Given the description of an element on the screen output the (x, y) to click on. 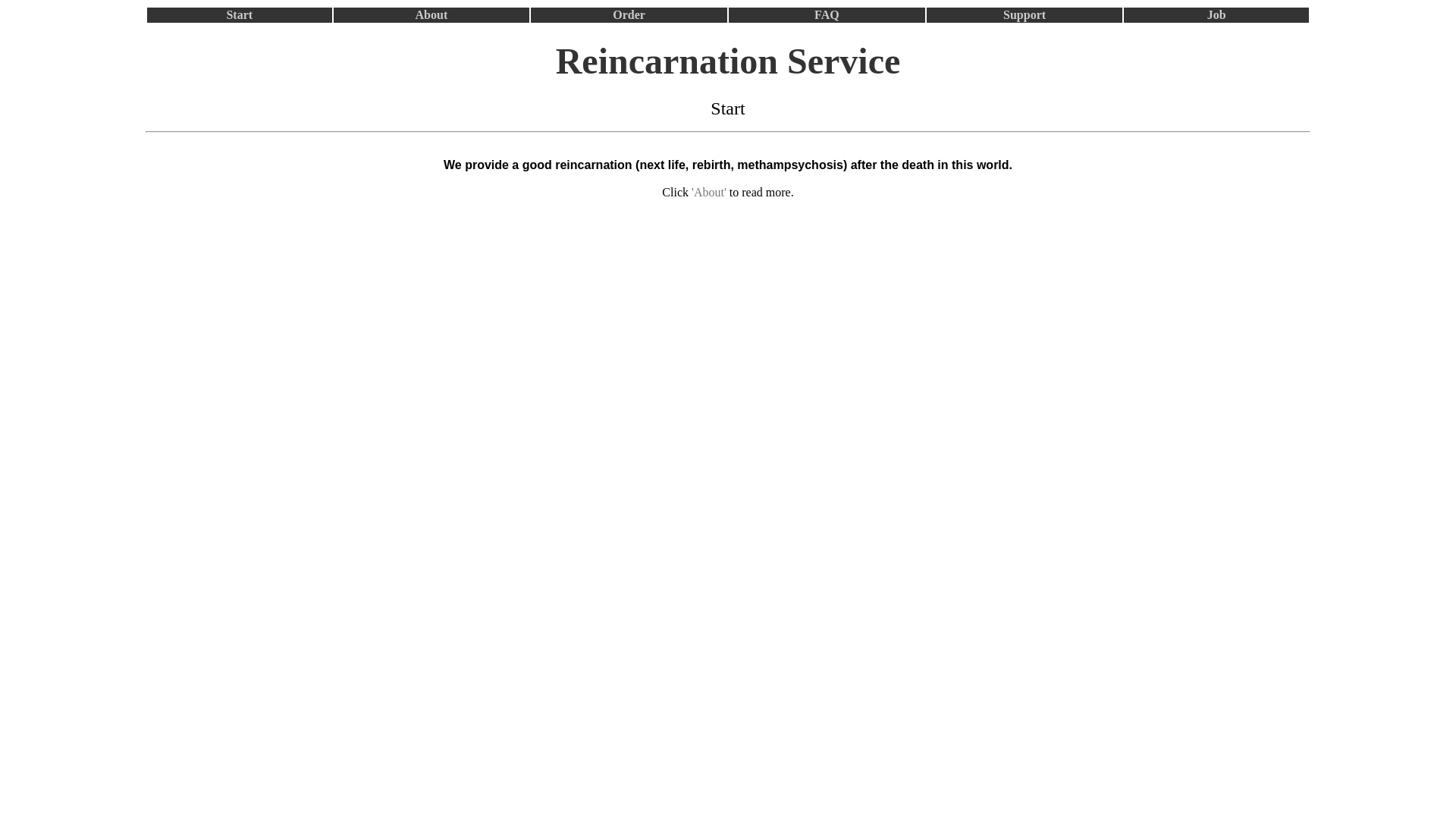
'About' Element type: text (708, 191)
Order Element type: text (628, 14)
Job Element type: text (1216, 14)
About Element type: text (431, 14)
Support Element type: text (1024, 14)
Start Element type: text (239, 14)
FAQ Element type: text (826, 14)
